Given the description of an element on the screen output the (x, y) to click on. 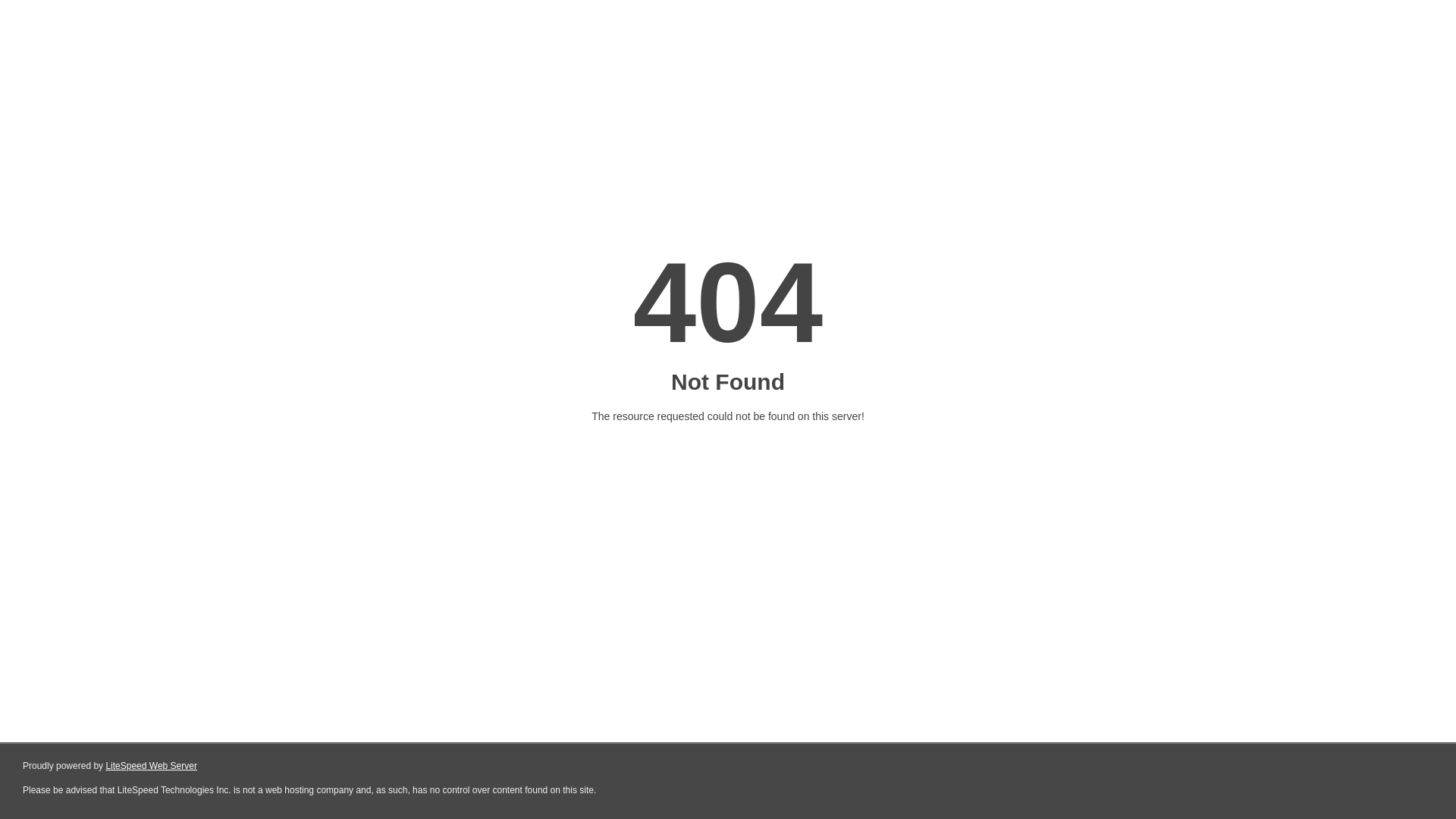
LiteSpeed Web Server Element type: text (151, 765)
